Given the description of an element on the screen output the (x, y) to click on. 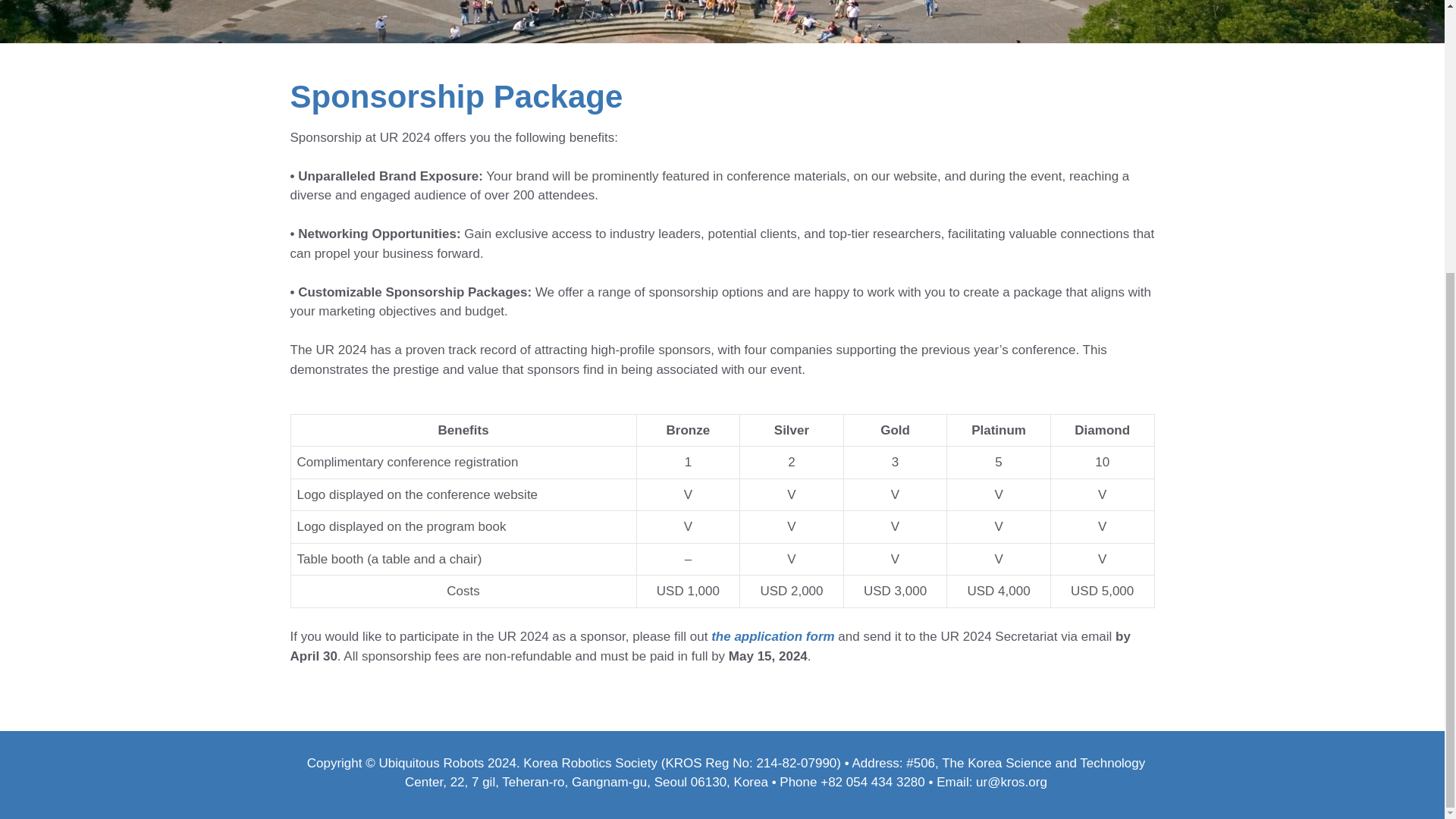
the application form (772, 636)
